Given the description of an element on the screen output the (x, y) to click on. 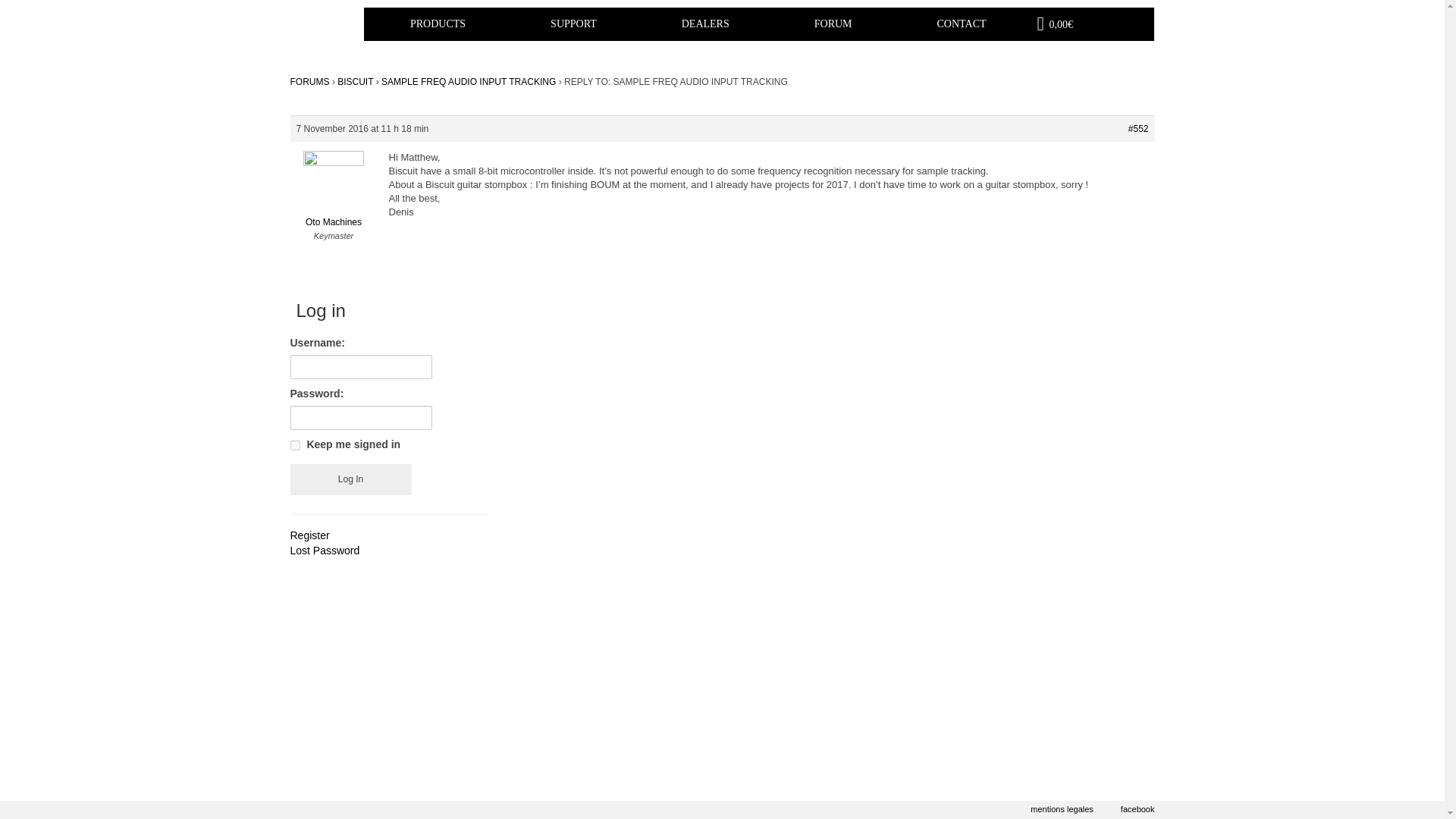
Register (309, 535)
DEALERS (705, 24)
Register (309, 535)
Oto Machines (333, 200)
SUPPORT (573, 24)
Lost Password (324, 550)
PRODUCTS (437, 24)
BISCUIT (354, 81)
View Oto Machines's profile (333, 200)
Log In (349, 479)
